Given the description of an element on the screen output the (x, y) to click on. 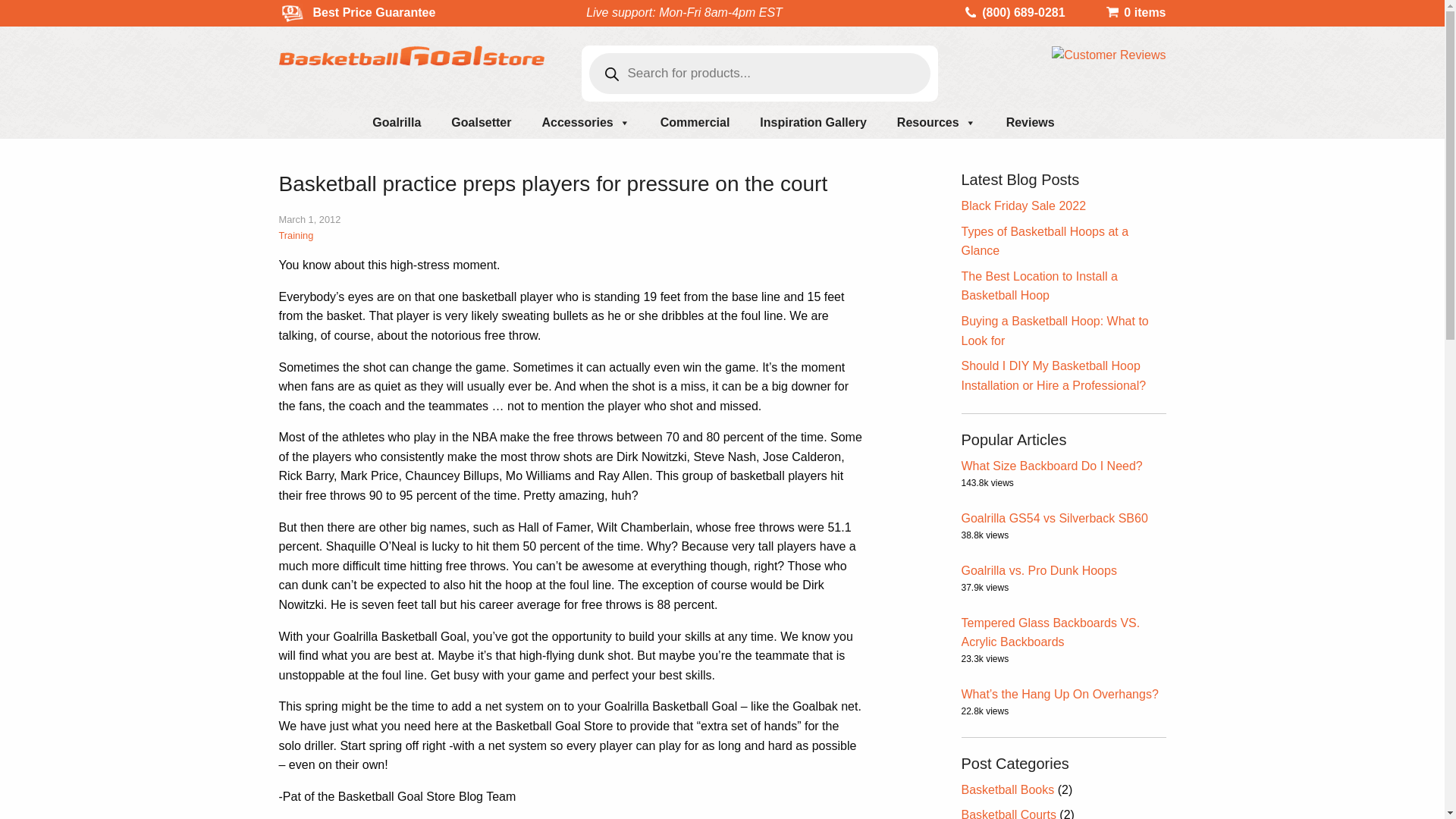
Goalrilla (395, 122)
0 items (1135, 11)
Accessories (585, 122)
Best Price Guarantee (365, 11)
Goalsetter (480, 122)
Reviews (1030, 122)
Commercial (695, 122)
Inspiration Gallery (812, 122)
Resources (936, 122)
